Given the description of an element on the screen output the (x, y) to click on. 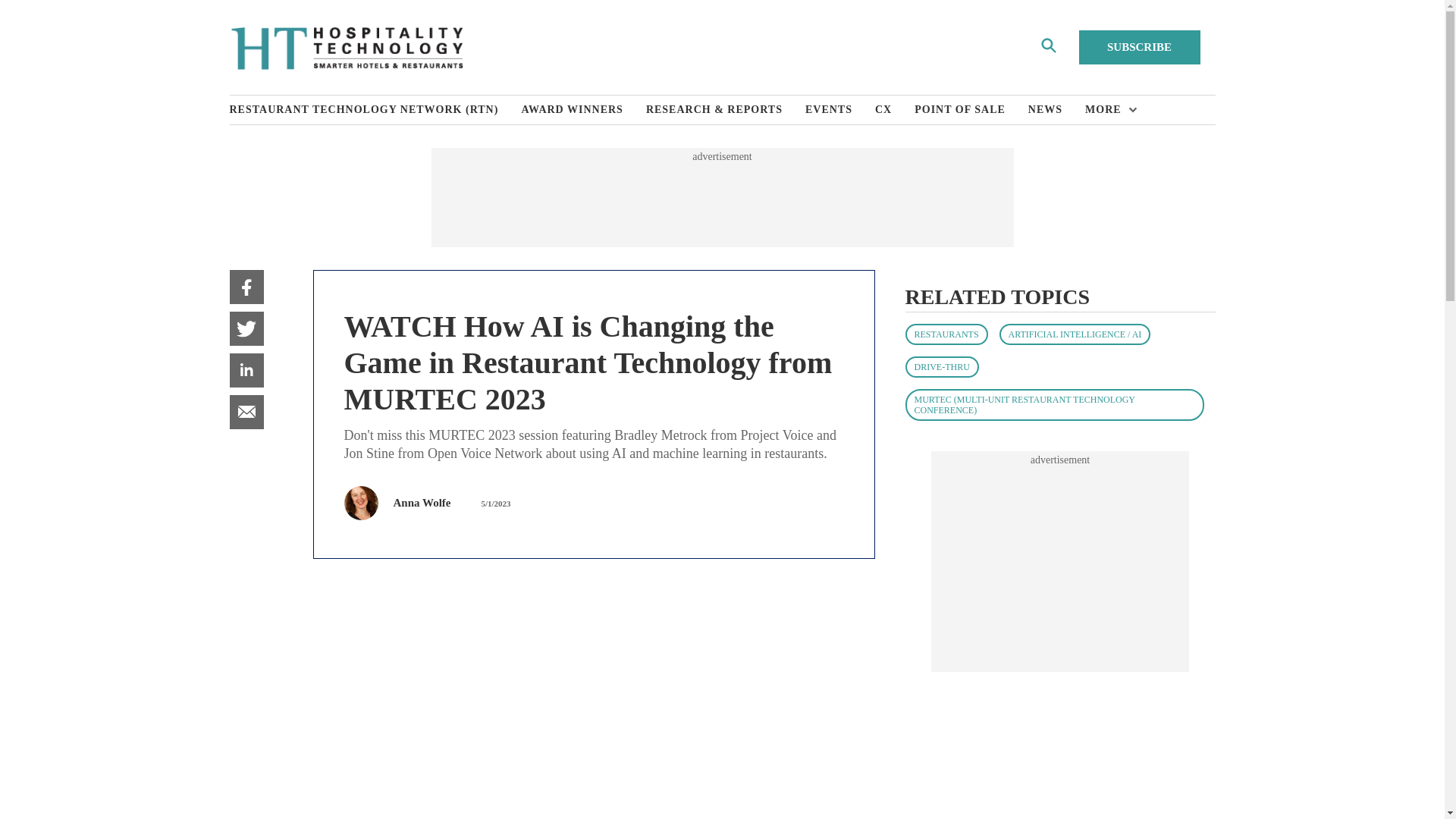
linkedIn (245, 369)
DRIVE-THRU (941, 366)
Anna Wolfe (421, 502)
MORE (1106, 109)
RESTAURANTS (946, 333)
facebook (245, 286)
Content Video Embed (594, 703)
email (245, 411)
AWARD WINNERS (583, 109)
3rd party ad content (721, 197)
SUBSCRIBE (1138, 47)
NEWS (1055, 109)
email (245, 411)
linkedIn (245, 369)
CX (894, 109)
